Given the description of an element on the screen output the (x, y) to click on. 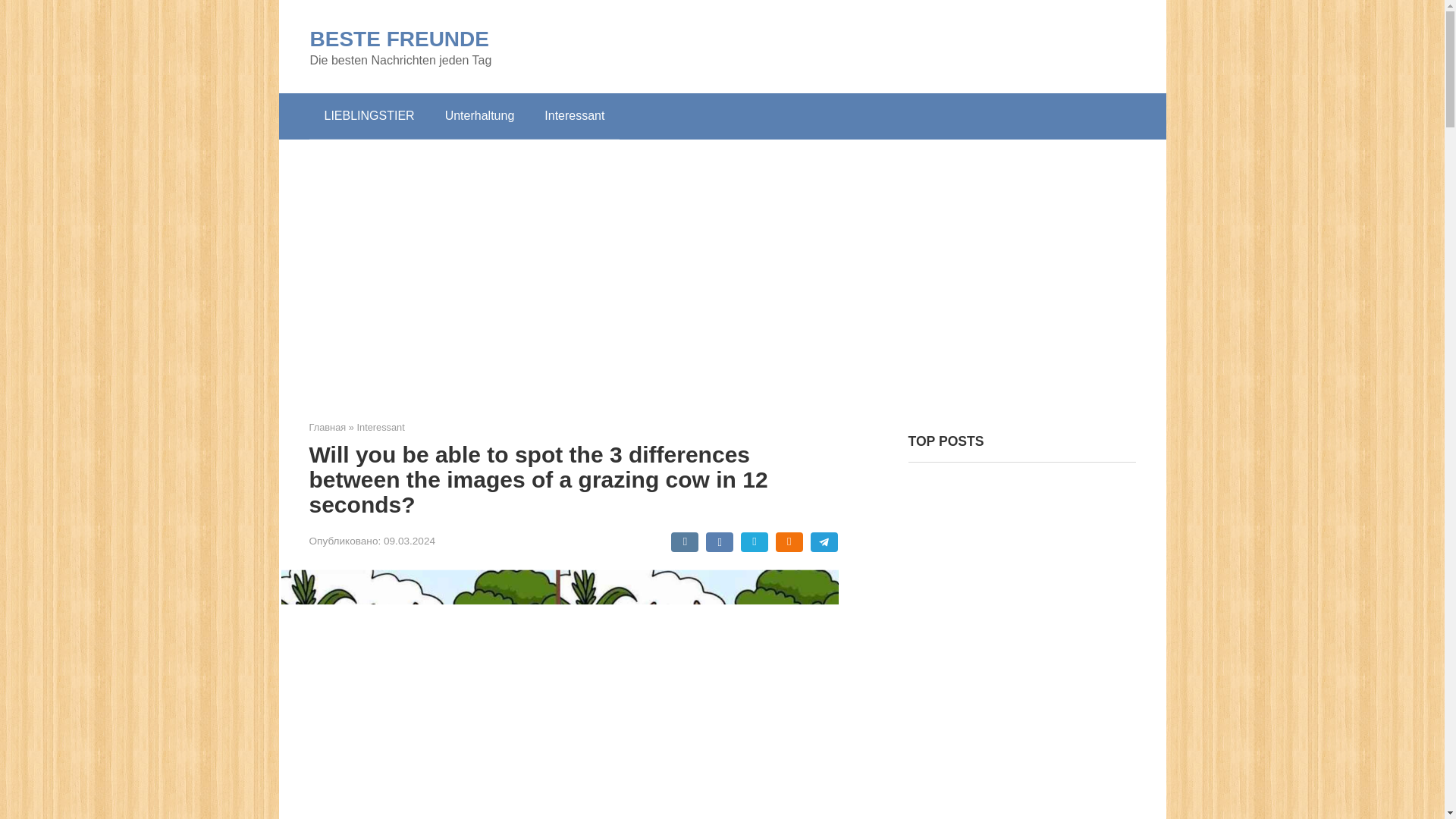
LIEBLINGSTIER (368, 115)
Interessant (574, 115)
Unterhaltung (479, 115)
BESTE FREUNDE (397, 38)
Interessant (380, 427)
